Given the description of an element on the screen output the (x, y) to click on. 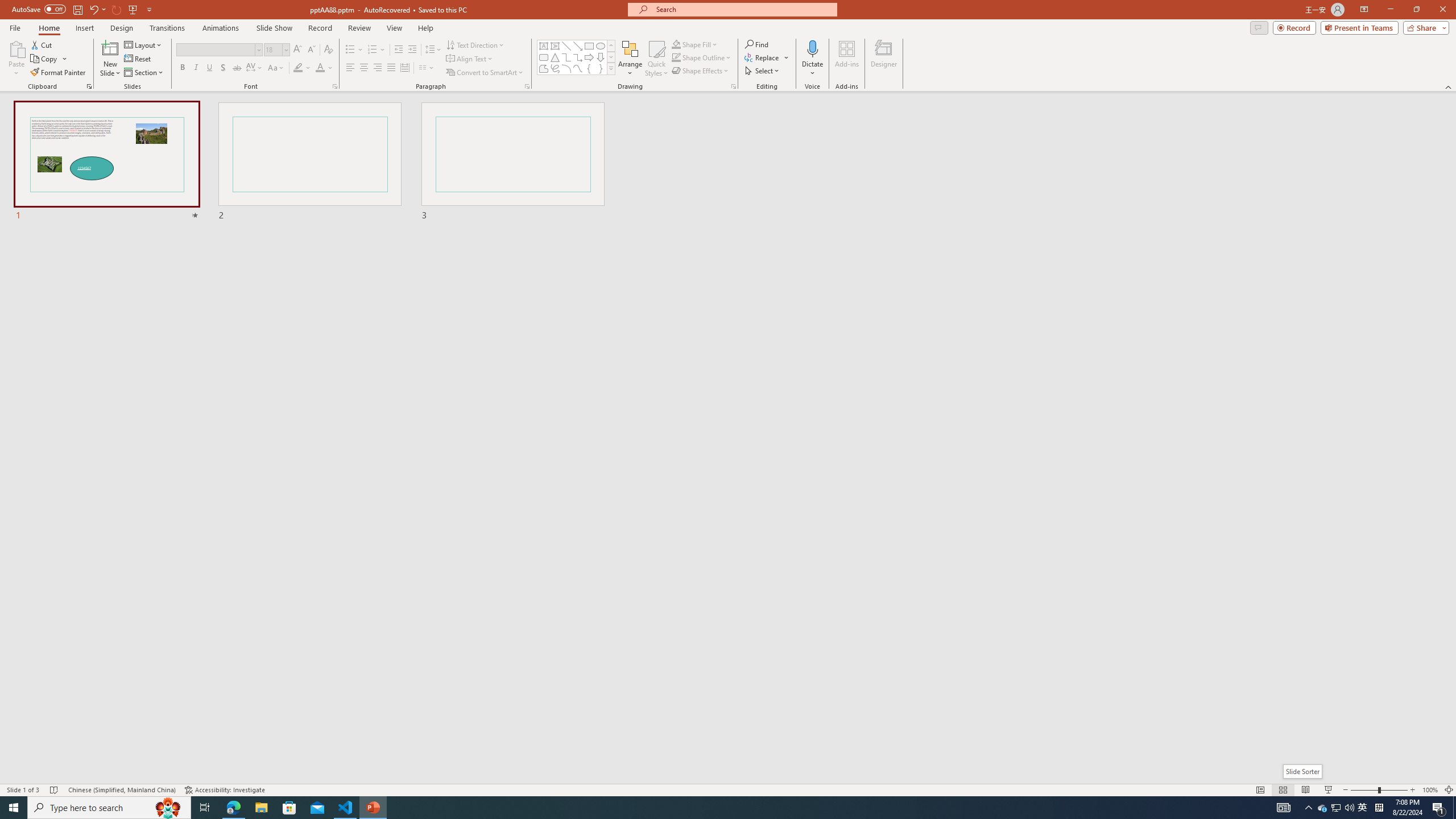
Strikethrough (237, 67)
Open (285, 49)
Connector: Elbow (566, 57)
Line Arrow (577, 45)
Slide Sorter (1282, 790)
Row Down (611, 56)
Replace... (767, 56)
Save (77, 9)
Bullets (354, 49)
Layout (143, 44)
Align Left (349, 67)
Text Highlight Color Yellow (297, 67)
Collapse the Ribbon (1448, 86)
Copy (49, 58)
Select (762, 69)
